Given the description of an element on the screen output the (x, y) to click on. 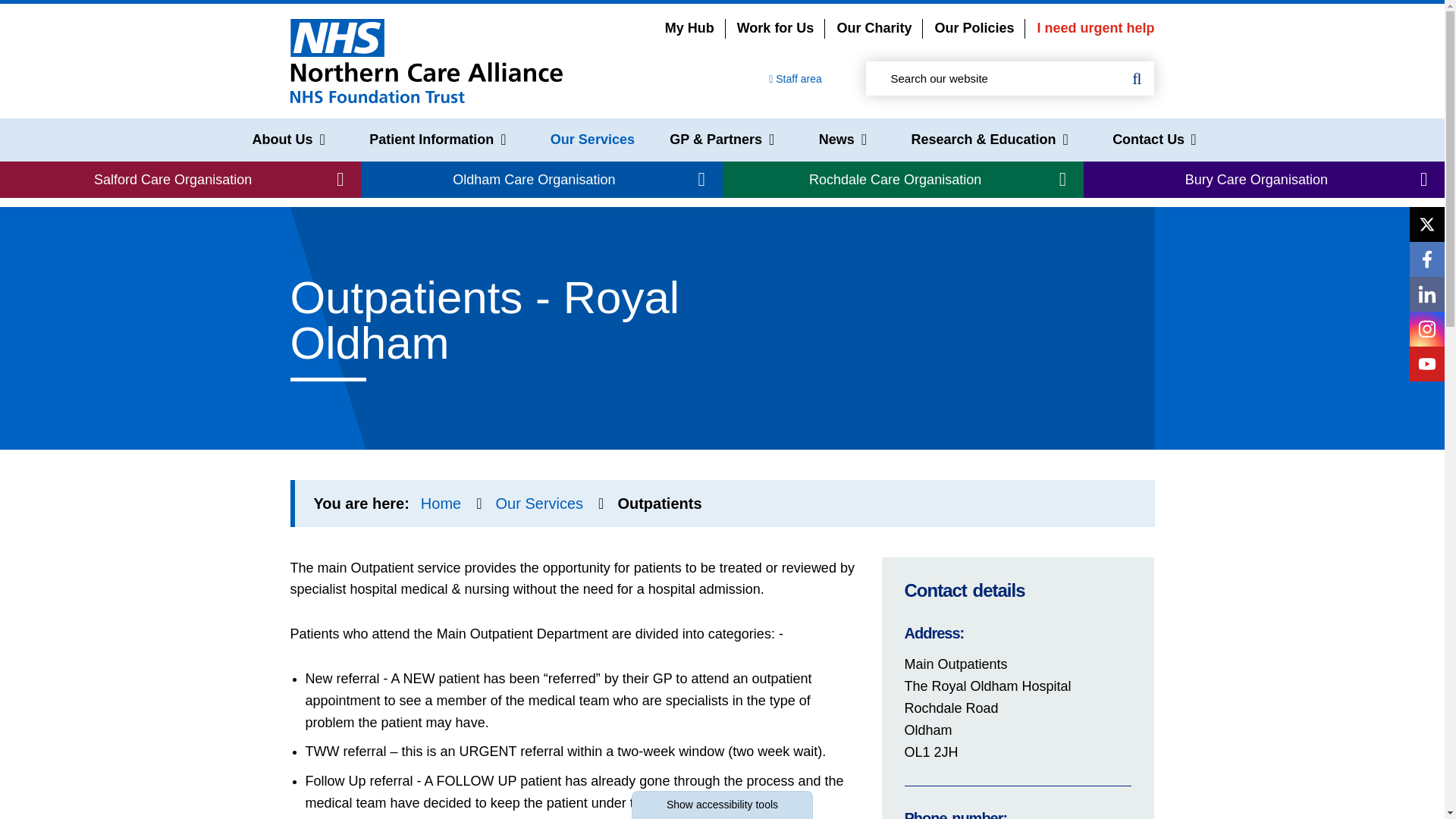
My Hub (689, 28)
About Us (288, 139)
When clicked will return to home page (425, 60)
I need urgent help (1095, 28)
Log in to your staff account (794, 78)
Search this website (1136, 78)
Our Policies (973, 28)
Work for Us (774, 28)
Our Charity (873, 28)
Staff area (794, 78)
